Given the description of an element on the screen output the (x, y) to click on. 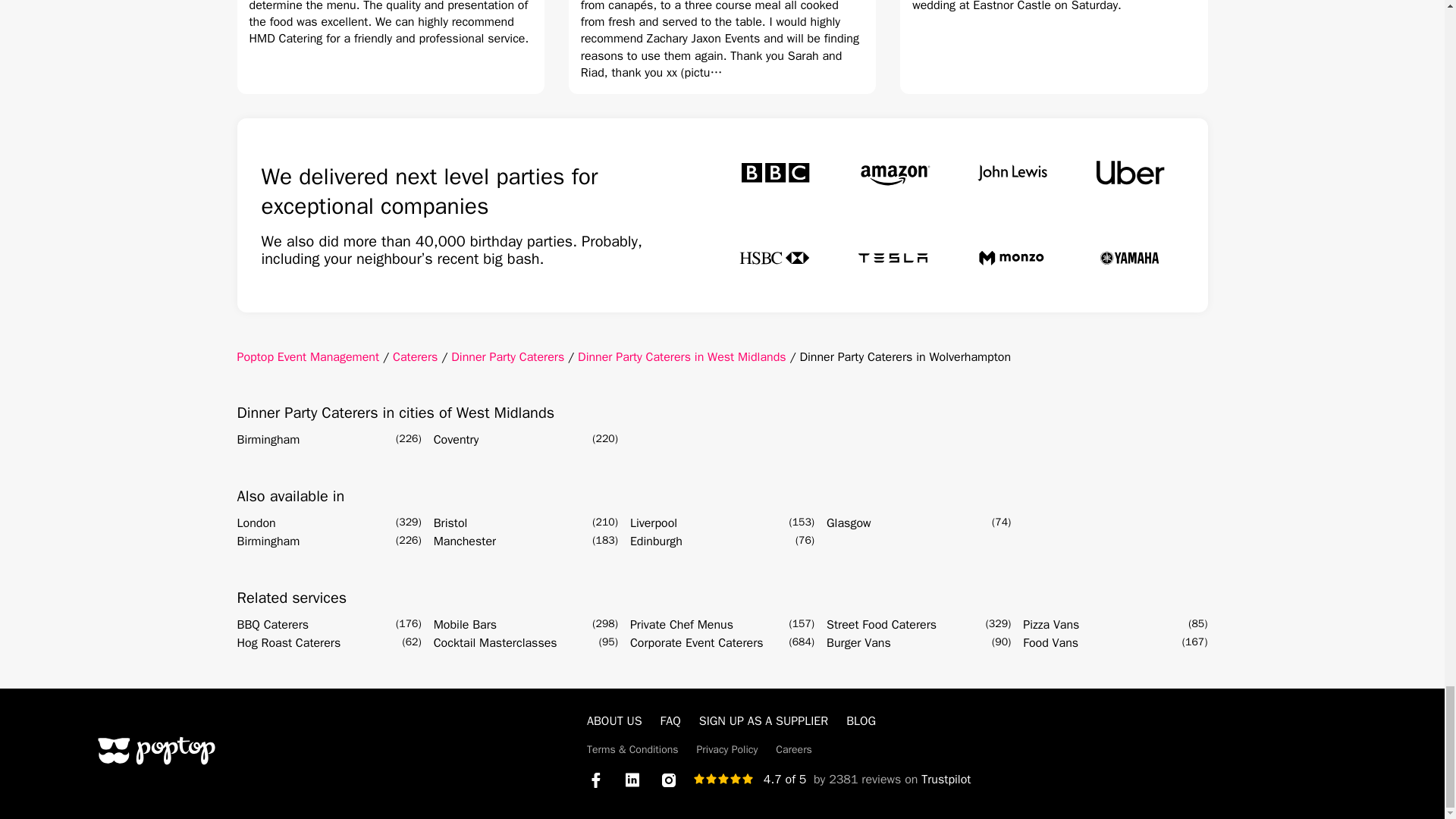
Corporate Event Caterers (696, 642)
Birmingham (267, 541)
Poptop Event Management (306, 356)
Burger Vans (859, 642)
Coventry (456, 439)
BBQ Caterers (271, 624)
Edinburgh (656, 541)
Caterers (415, 356)
Pizza Vans (1050, 624)
ABOUT US (614, 720)
Liverpool (653, 523)
Street Food Caterers (881, 624)
Birmingham (267, 439)
London (255, 523)
Mobile Bars (464, 624)
